Given the description of an element on the screen output the (x, y) to click on. 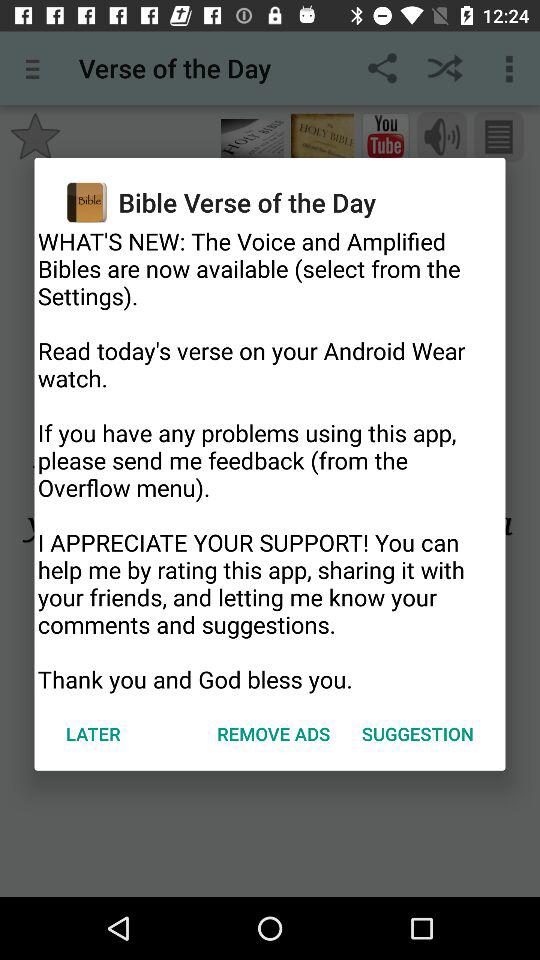
turn on the suggestion (417, 733)
